Given the description of an element on the screen output the (x, y) to click on. 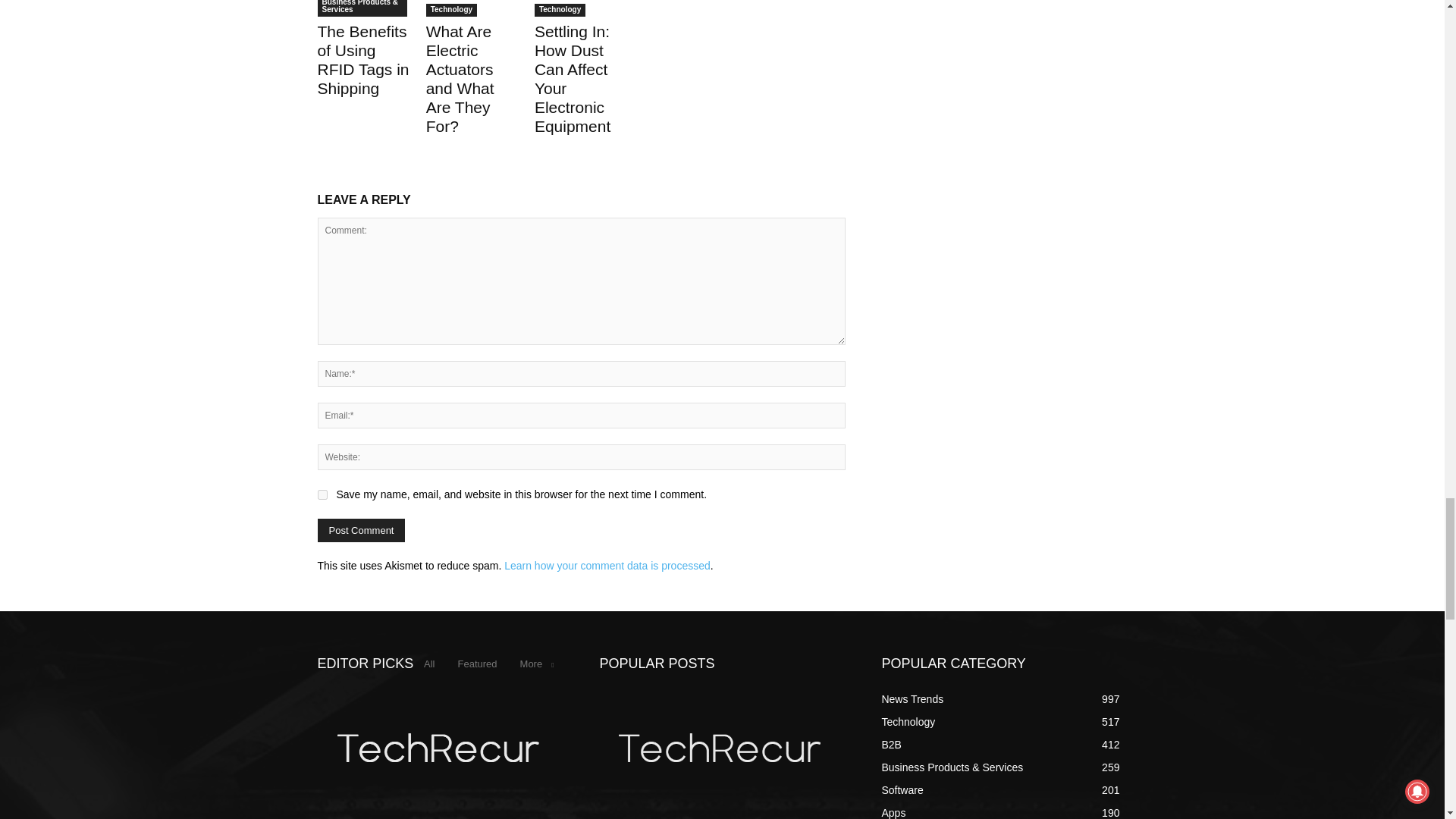
Post Comment (360, 530)
yes (321, 494)
